Given the description of an element on the screen output the (x, y) to click on. 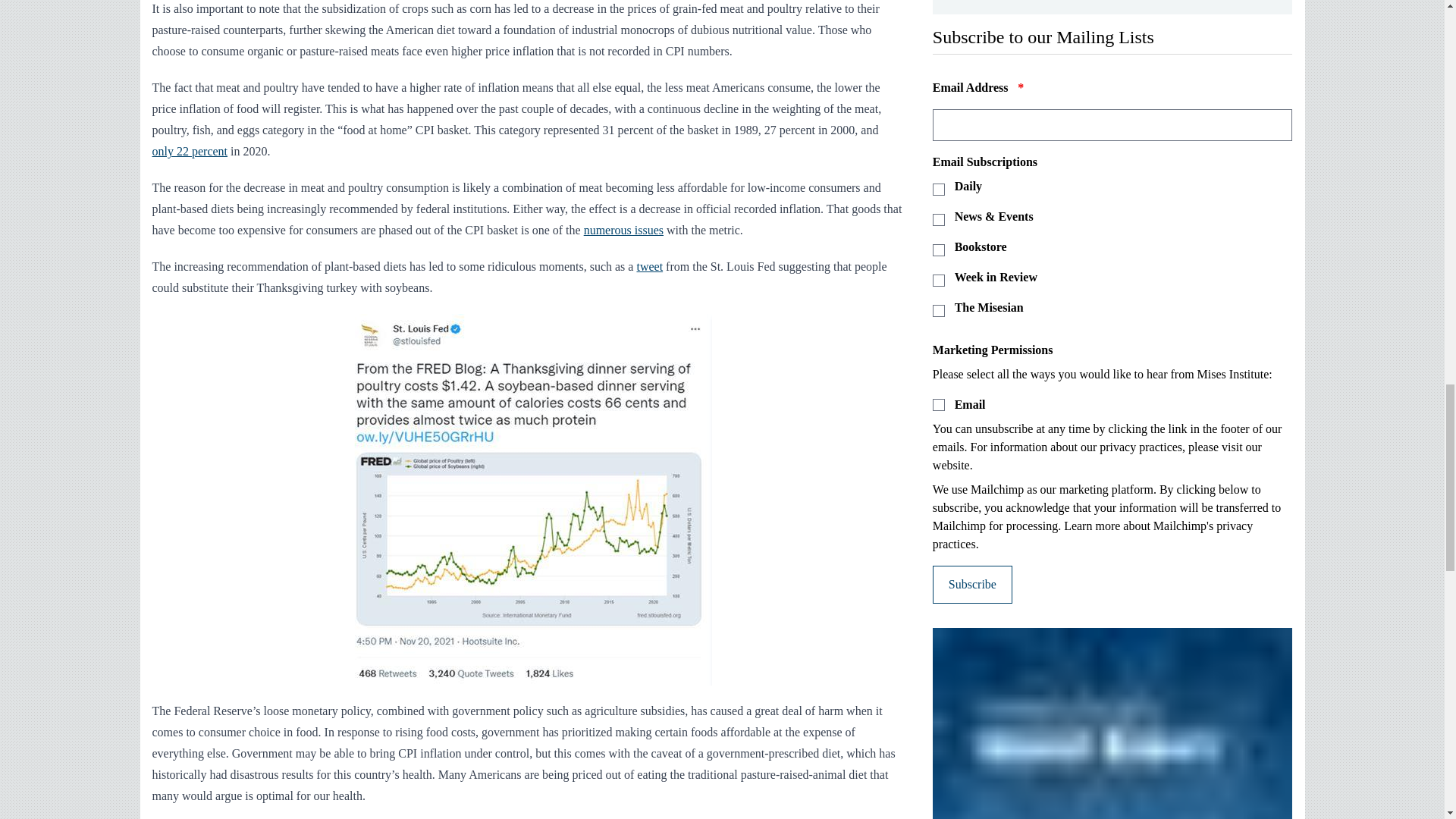
Y (938, 404)
Subscribe (972, 584)
